Given the description of an element on the screen output the (x, y) to click on. 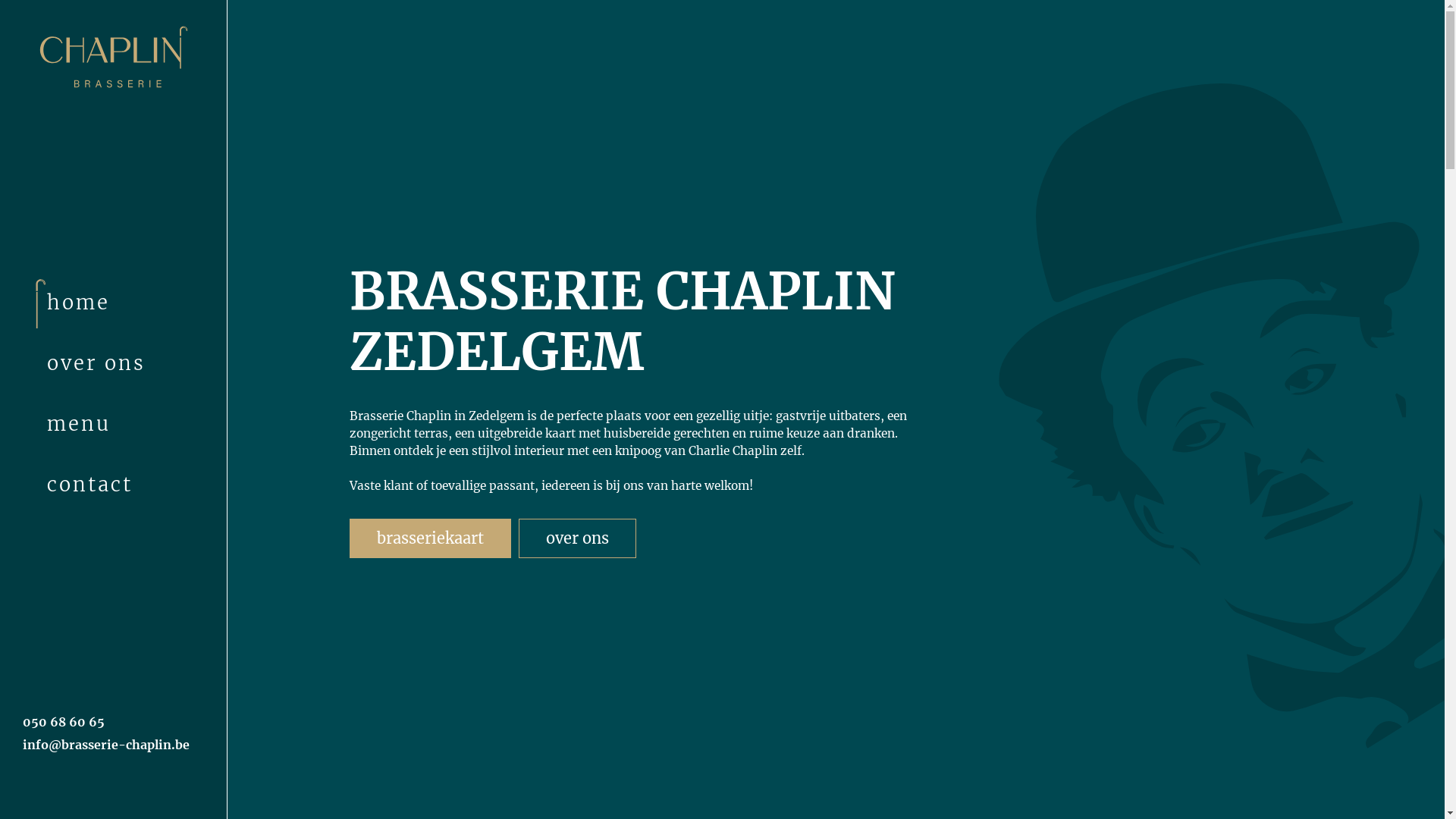
over ons Element type: text (577, 538)
brasseriekaart Element type: text (429, 538)
over ons Element type: text (124, 362)
contact Element type: text (124, 484)
menu Element type: text (124, 423)
info@brasserie-chaplin.be Element type: text (105, 744)
Spring naar de inhoud Element type: text (1443, 0)
home Element type: text (124, 302)
050 68 60 65 Element type: text (63, 721)
